Given the description of an element on the screen output the (x, y) to click on. 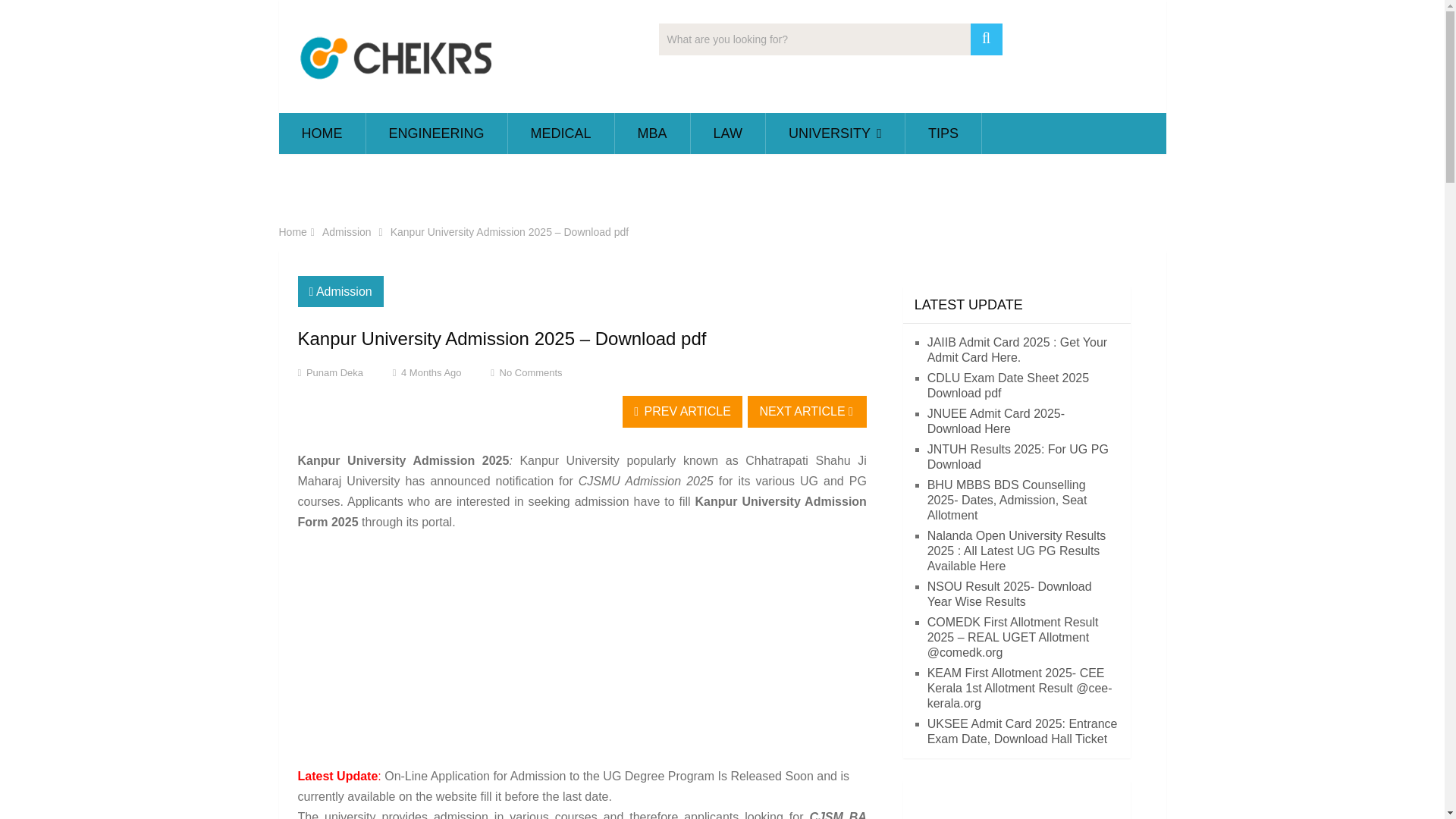
UNIVERSITY (834, 133)
TIPS (943, 133)
LAW (727, 133)
ENGINEERING (435, 133)
MBA (652, 133)
NEXT ARTICLE (807, 411)
Home (293, 232)
PREV ARTICLE (682, 411)
Admission (343, 291)
Posts by Punam Deka (333, 372)
View all posts in Admission (343, 291)
MEDICAL (561, 133)
Admission (346, 232)
HOME (322, 133)
Punam Deka (333, 372)
